Given the description of an element on the screen output the (x, y) to click on. 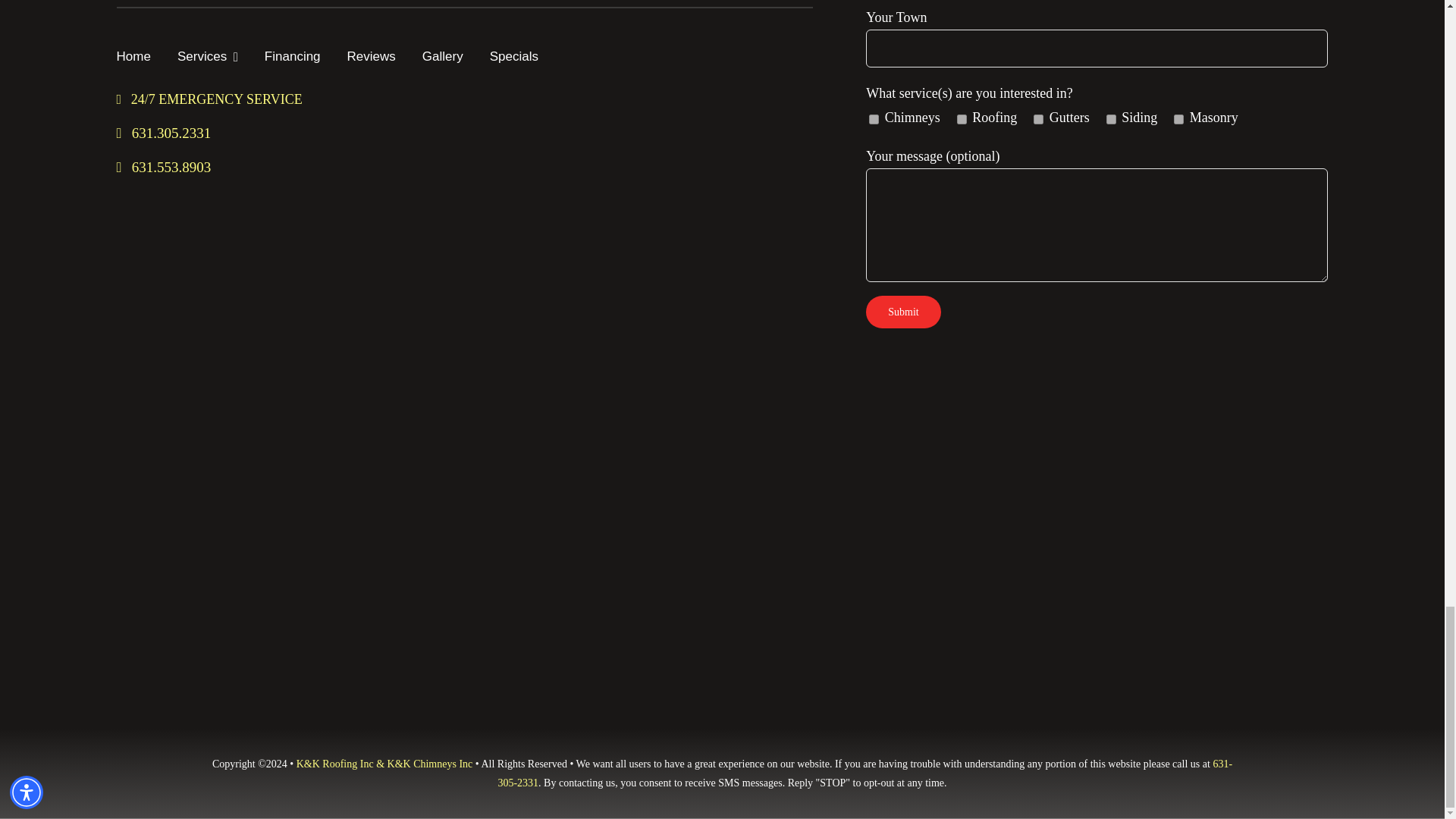
Siding (1111, 119)
Submit (903, 311)
Roofing (961, 119)
Gutters (1038, 119)
Masonry (1178, 119)
Chimneys (874, 119)
